Given the description of an element on the screen output the (x, y) to click on. 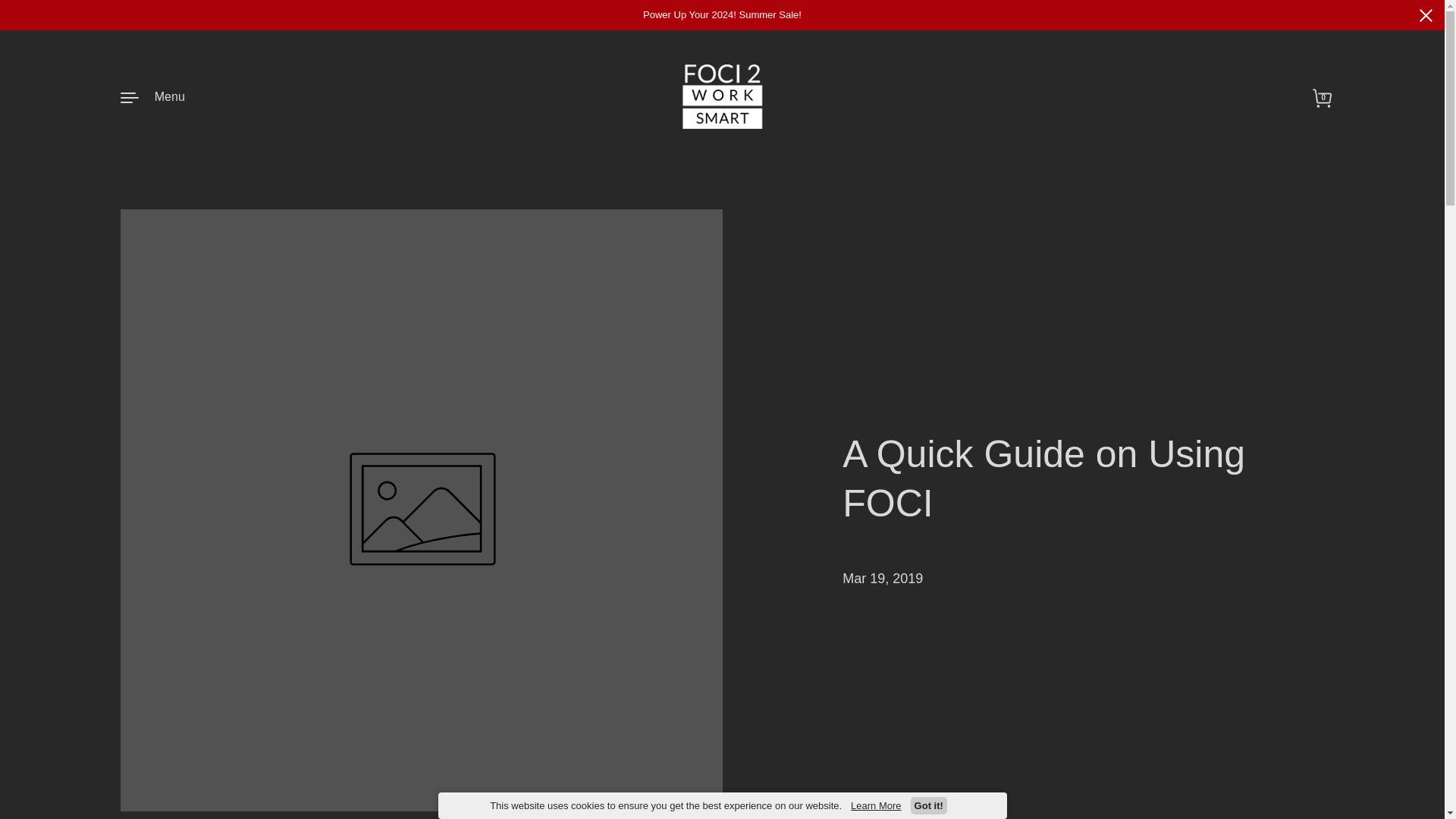
FOCI (721, 96)
Menu (152, 96)
